Given the description of an element on the screen output the (x, y) to click on. 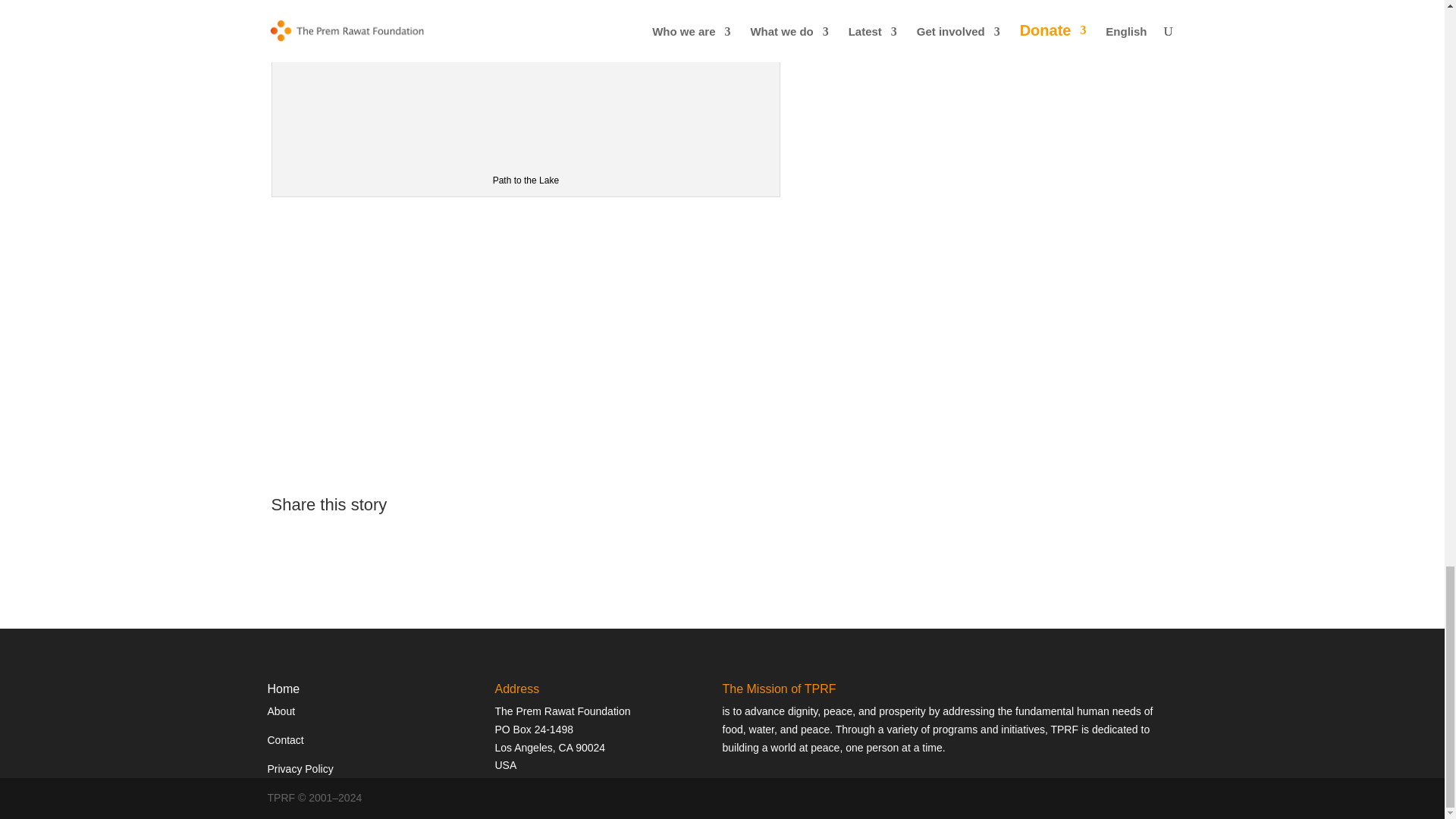
Share on Twitter (310, 536)
Share on Facebook (282, 536)
Pin it with Pinterest (366, 536)
Share on Reddit (339, 536)
Share by email (422, 536)
Share on Linkedin (395, 536)
